Given the description of an element on the screen output the (x, y) to click on. 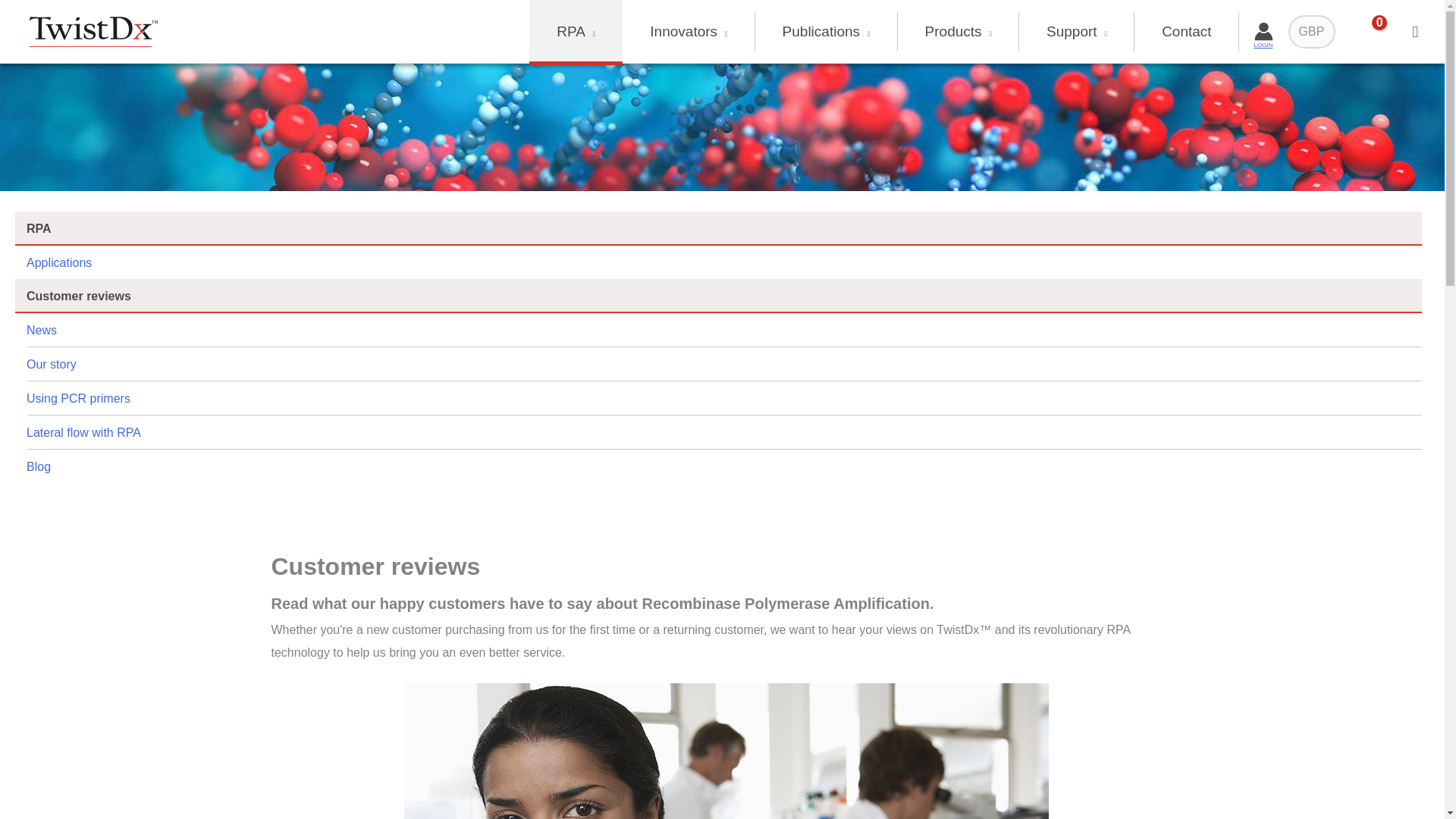
Support (1076, 31)
Publications (826, 31)
RPA (576, 31)
Contact (1186, 31)
reviews (725, 751)
Innovators (688, 31)
Products (959, 31)
